Given the description of an element on the screen output the (x, y) to click on. 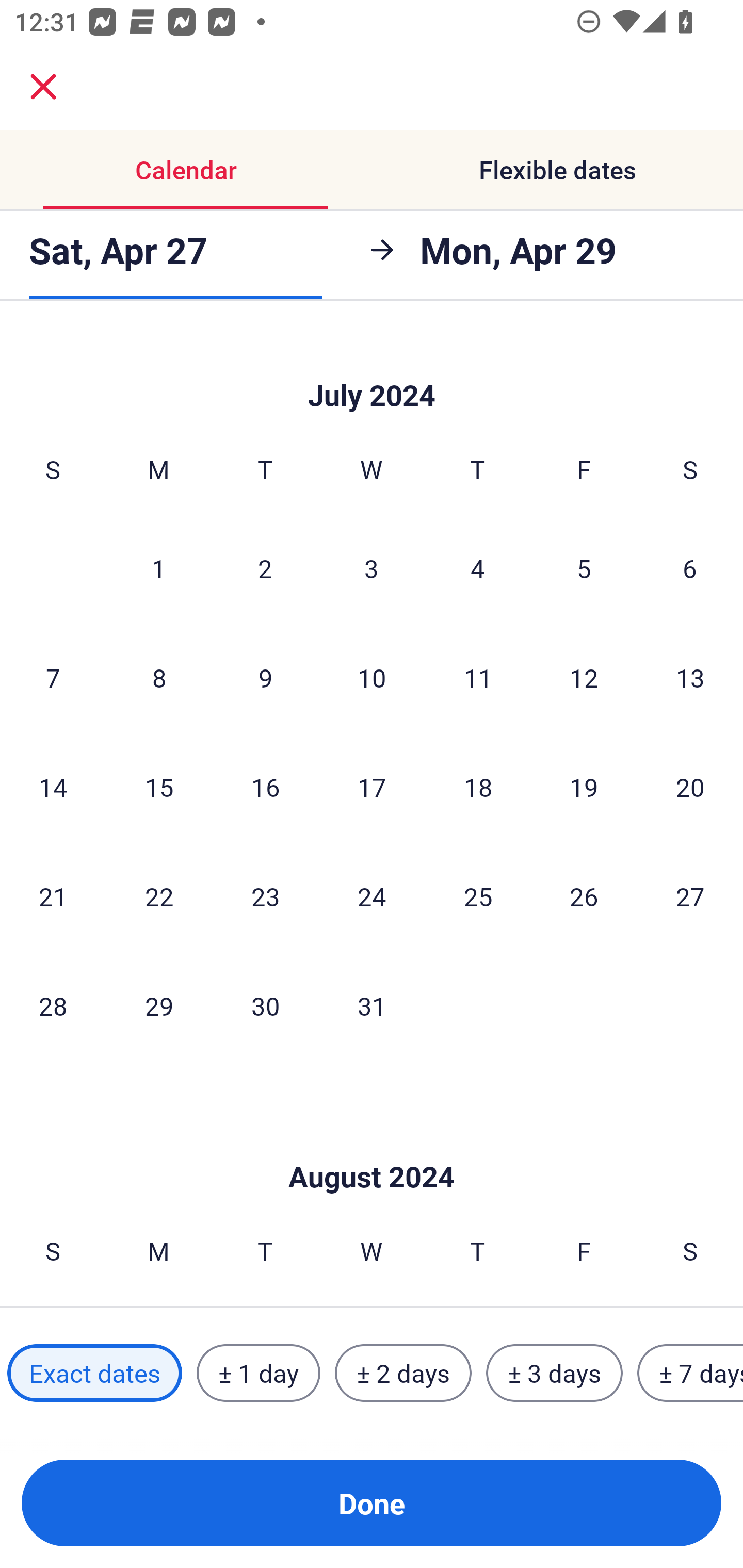
close. (43, 86)
Flexible dates (557, 170)
Skip to Done (371, 368)
1 Monday, July 1, 2024 (158, 567)
2 Tuesday, July 2, 2024 (264, 567)
3 Wednesday, July 3, 2024 (371, 567)
4 Thursday, July 4, 2024 (477, 567)
5 Friday, July 5, 2024 (583, 567)
6 Saturday, July 6, 2024 (689, 567)
7 Sunday, July 7, 2024 (53, 677)
8 Monday, July 8, 2024 (159, 677)
9 Tuesday, July 9, 2024 (265, 677)
10 Wednesday, July 10, 2024 (371, 677)
11 Thursday, July 11, 2024 (477, 677)
12 Friday, July 12, 2024 (584, 677)
13 Saturday, July 13, 2024 (690, 677)
14 Sunday, July 14, 2024 (53, 786)
15 Monday, July 15, 2024 (159, 786)
16 Tuesday, July 16, 2024 (265, 786)
17 Wednesday, July 17, 2024 (371, 786)
18 Thursday, July 18, 2024 (477, 786)
19 Friday, July 19, 2024 (584, 786)
20 Saturday, July 20, 2024 (690, 786)
21 Sunday, July 21, 2024 (53, 895)
22 Monday, July 22, 2024 (159, 895)
23 Tuesday, July 23, 2024 (265, 895)
24 Wednesday, July 24, 2024 (371, 895)
25 Thursday, July 25, 2024 (477, 895)
26 Friday, July 26, 2024 (584, 895)
27 Saturday, July 27, 2024 (690, 895)
28 Sunday, July 28, 2024 (53, 1005)
29 Monday, July 29, 2024 (159, 1005)
30 Tuesday, July 30, 2024 (265, 1005)
31 Wednesday, July 31, 2024 (371, 1005)
Skip to Done (371, 1146)
Exact dates (94, 1372)
± 1 day (258, 1372)
± 2 days (403, 1372)
± 3 days (553, 1372)
± 7 days (690, 1372)
Done (371, 1502)
